Given the description of an element on the screen output the (x, y) to click on. 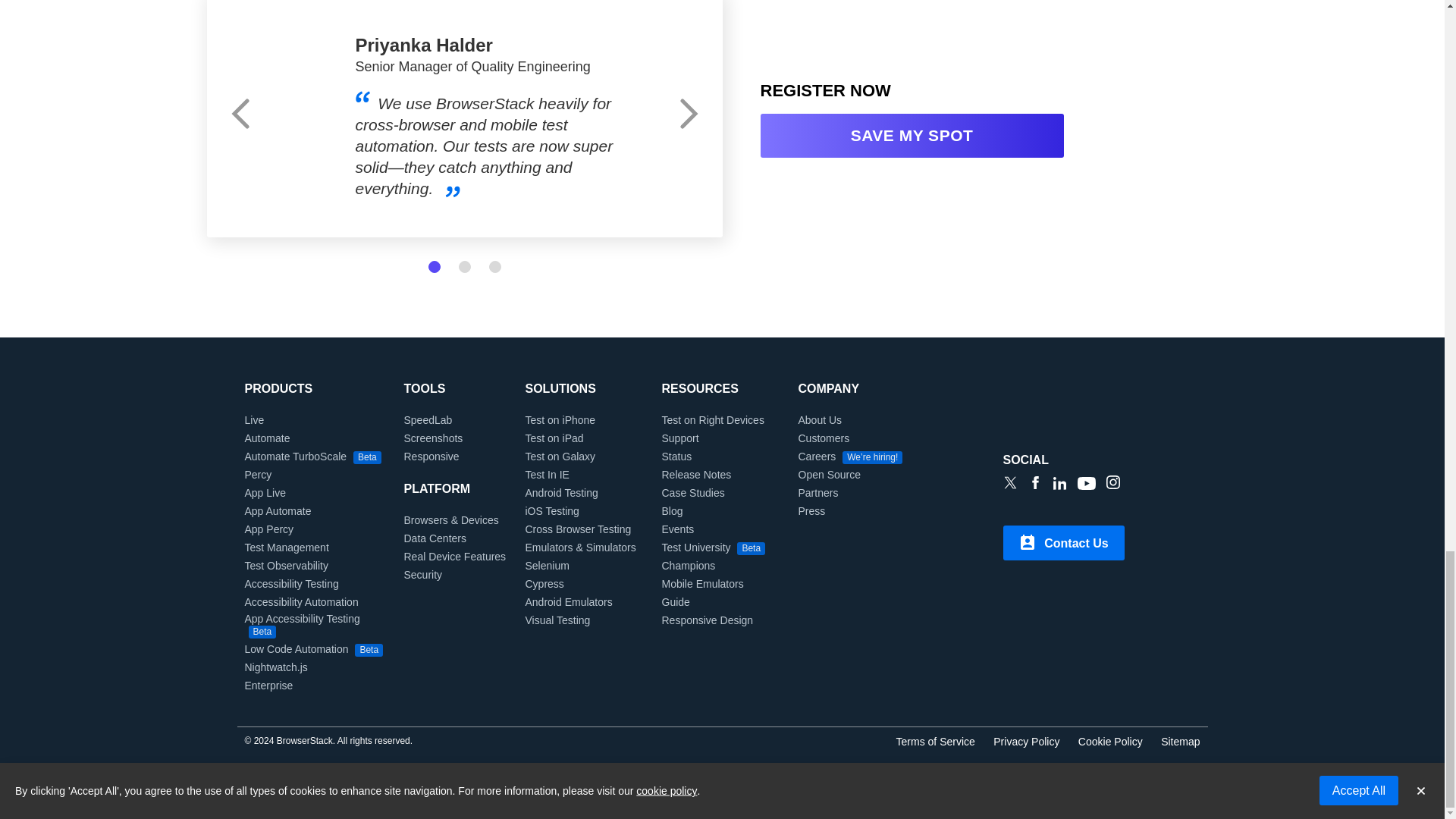
Accessibility Testing (290, 583)
Percy (257, 474)
Low Code Automation Beta (313, 649)
Test on iPhone (559, 419)
Test on iPad (553, 438)
Test Observability (285, 565)
App Automate (277, 510)
YouTube (1086, 484)
Screenshots (433, 438)
Automate (266, 438)
Automate TurboScale Beta (312, 457)
Live (253, 419)
App Percy (269, 529)
SpeedLab (427, 419)
